Given the description of an element on the screen output the (x, y) to click on. 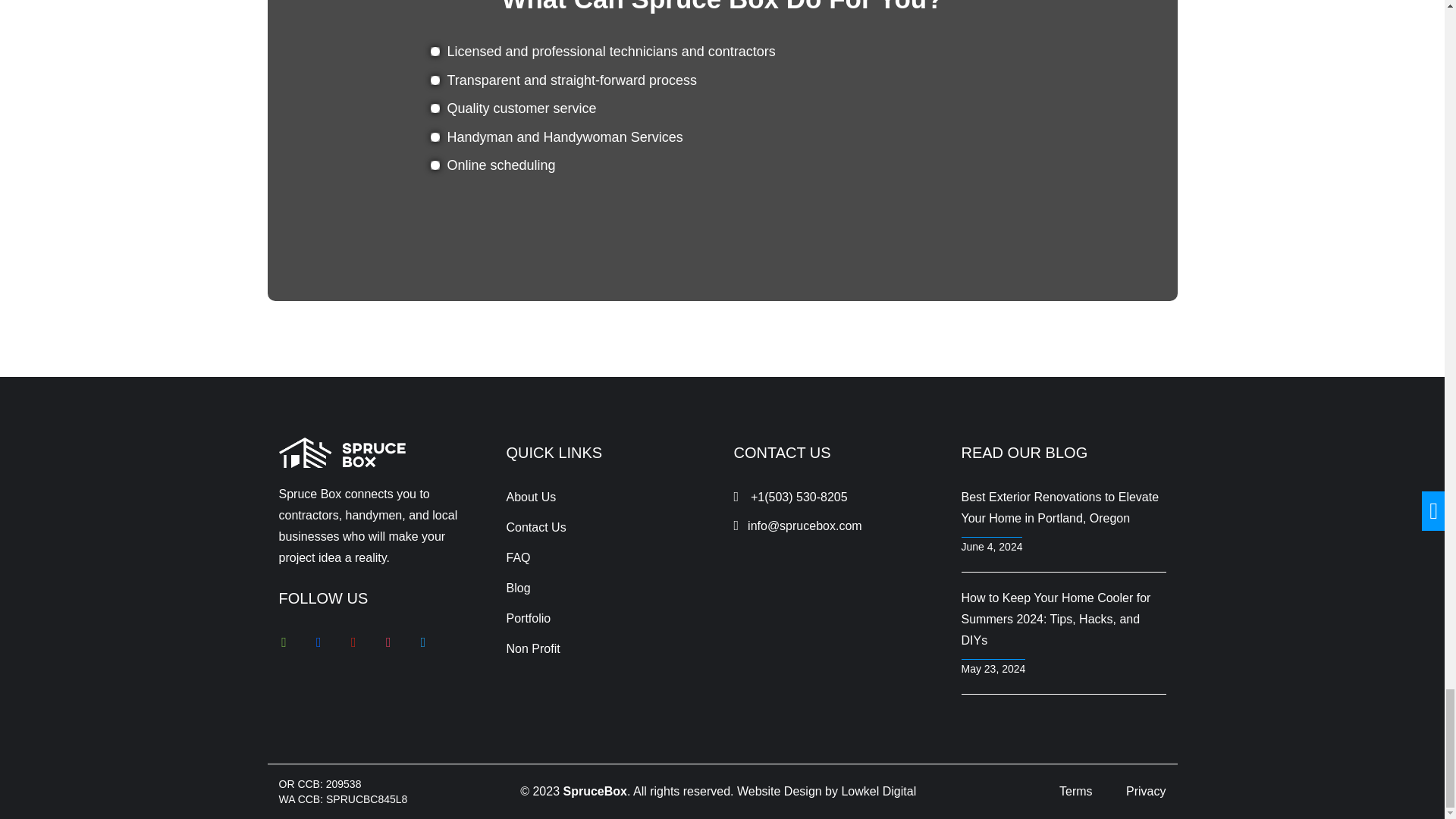
houzz (283, 641)
